Given the description of an element on the screen output the (x, y) to click on. 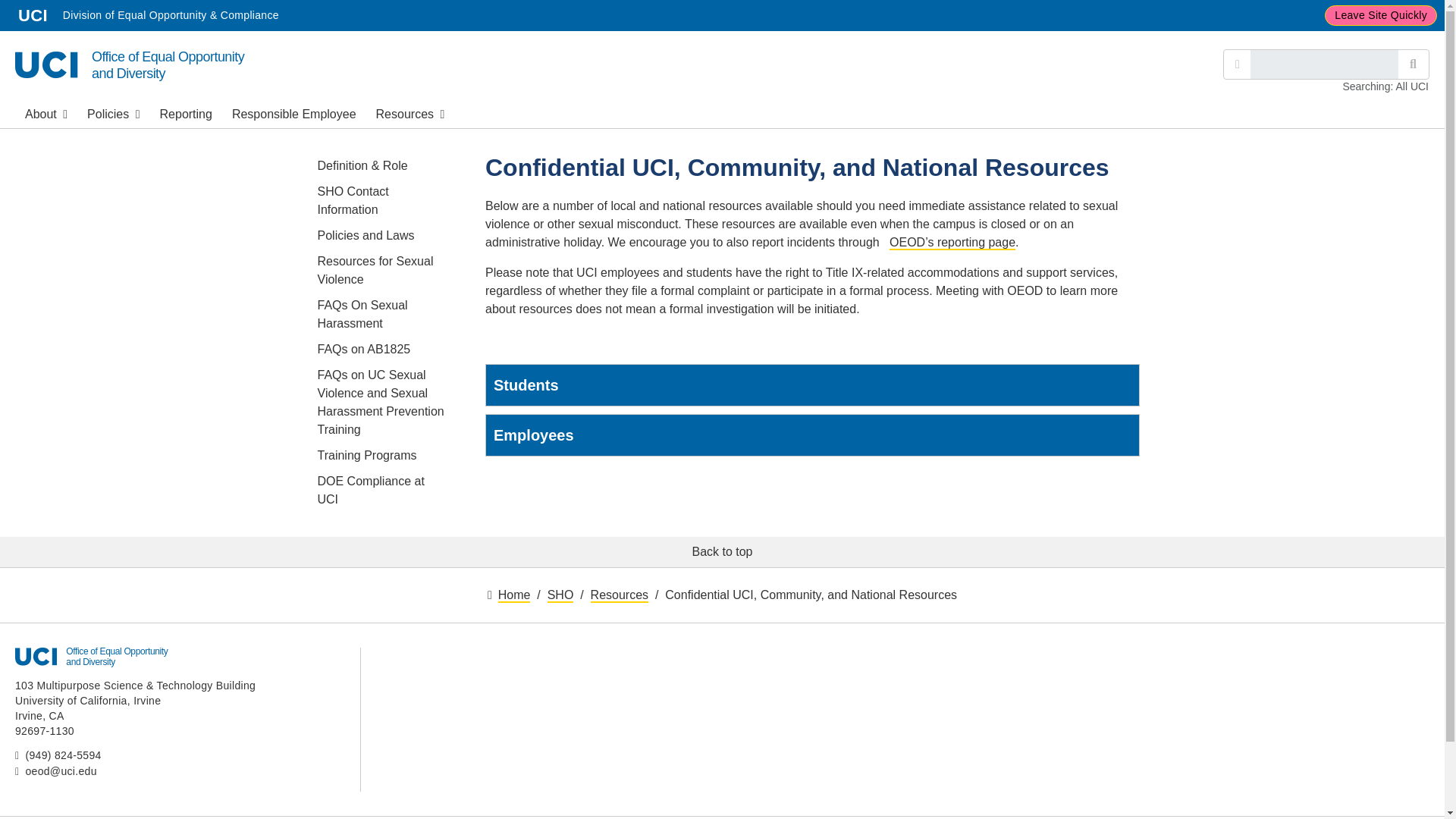
Responsible Employee (32, 15)
Resources (294, 112)
Select search type (410, 112)
Reporting (1237, 63)
About (185, 112)
Policies (45, 112)
Search (113, 112)
Leave Site Quickly (1412, 63)
